Given the description of an element on the screen output the (x, y) to click on. 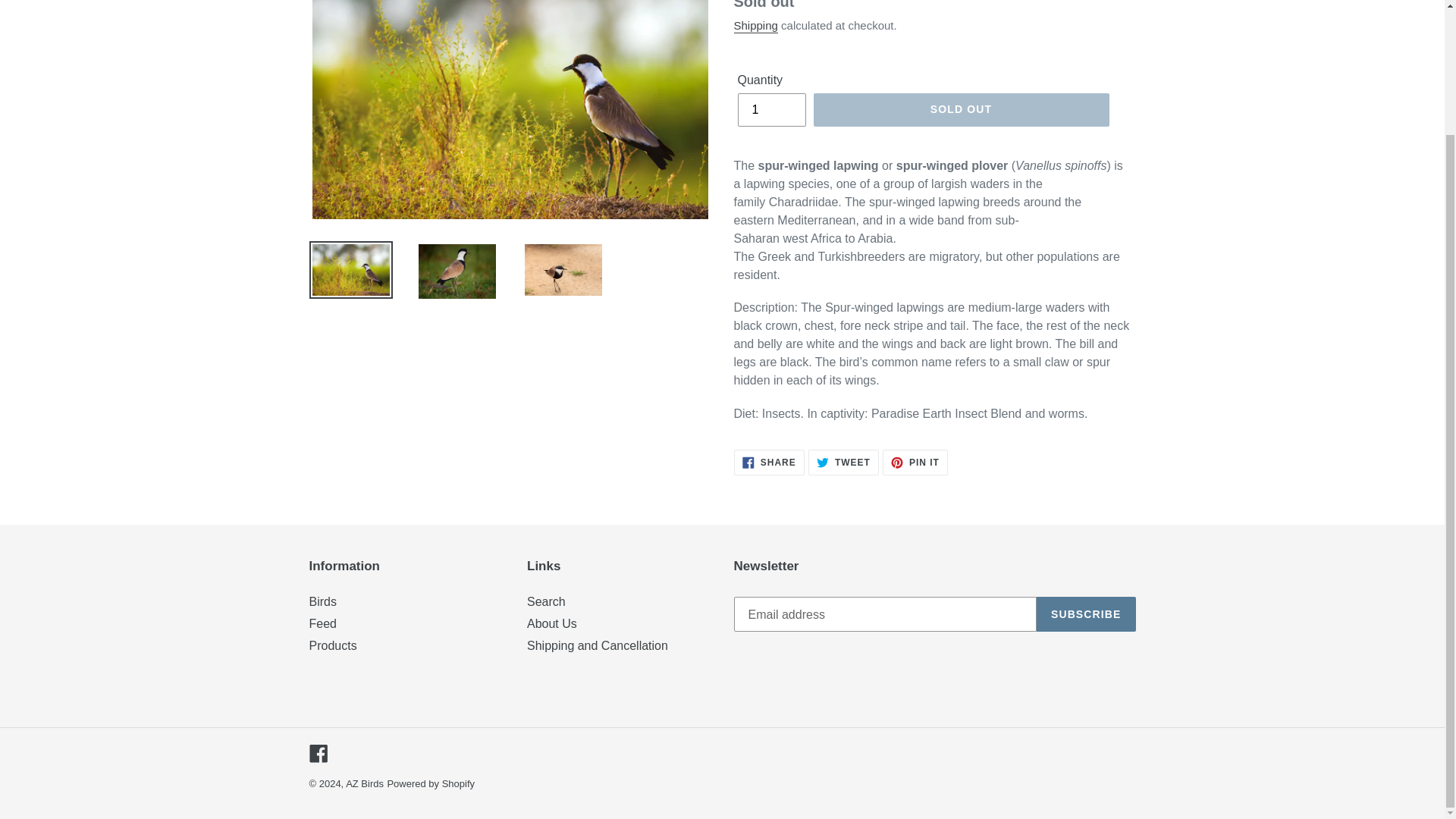
1 (770, 109)
